Given the description of an element on the screen output the (x, y) to click on. 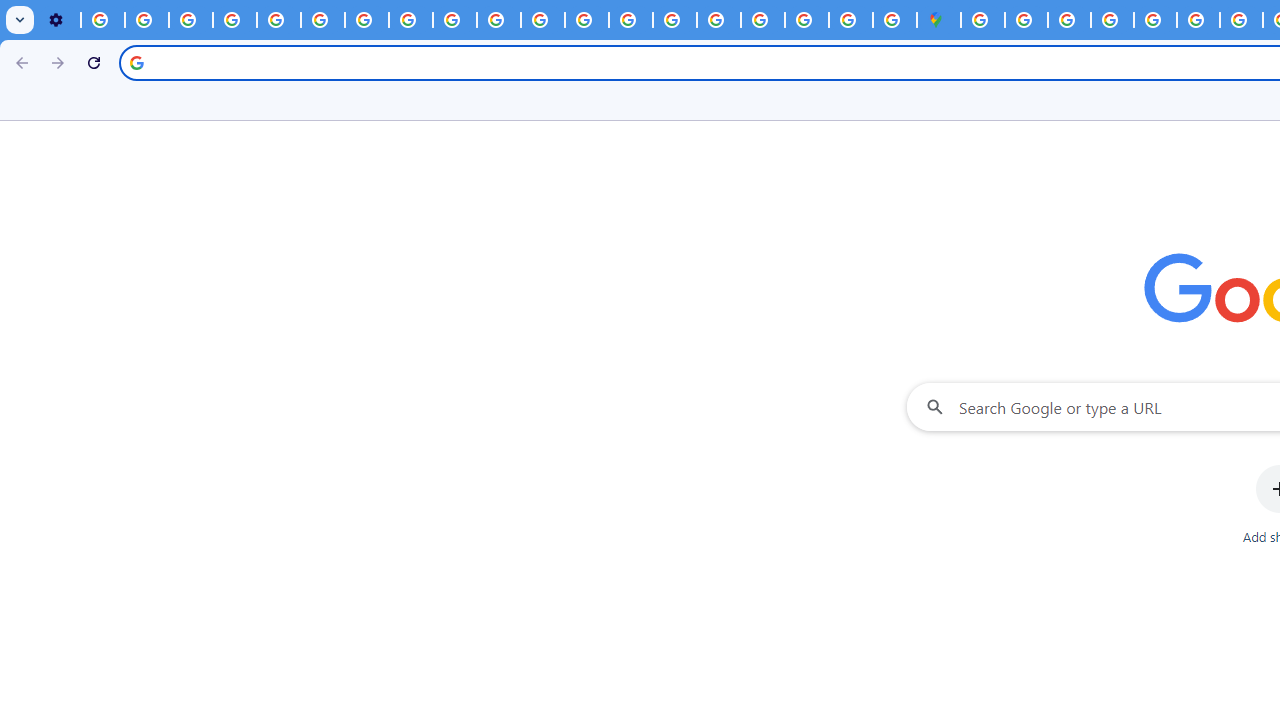
Settings - Customize profile (58, 20)
